Given the description of an element on the screen output the (x, y) to click on. 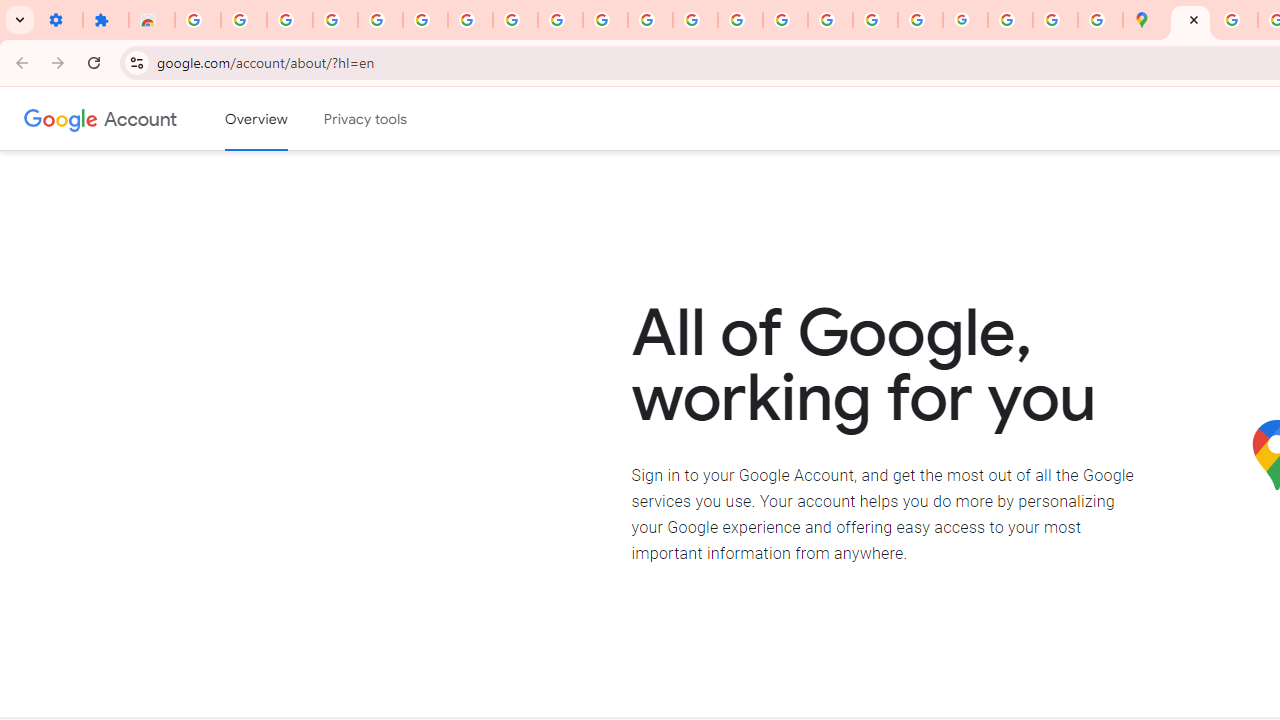
Reviews: Helix Fruit Jump Arcade Game (152, 20)
Privacy Help Center - Policies Help (784, 20)
Sign in - Google Accounts (198, 20)
Google Maps (1145, 20)
Google Account (140, 118)
Sign in - Google Accounts (380, 20)
Settings - On startup (60, 20)
